Given the description of an element on the screen output the (x, y) to click on. 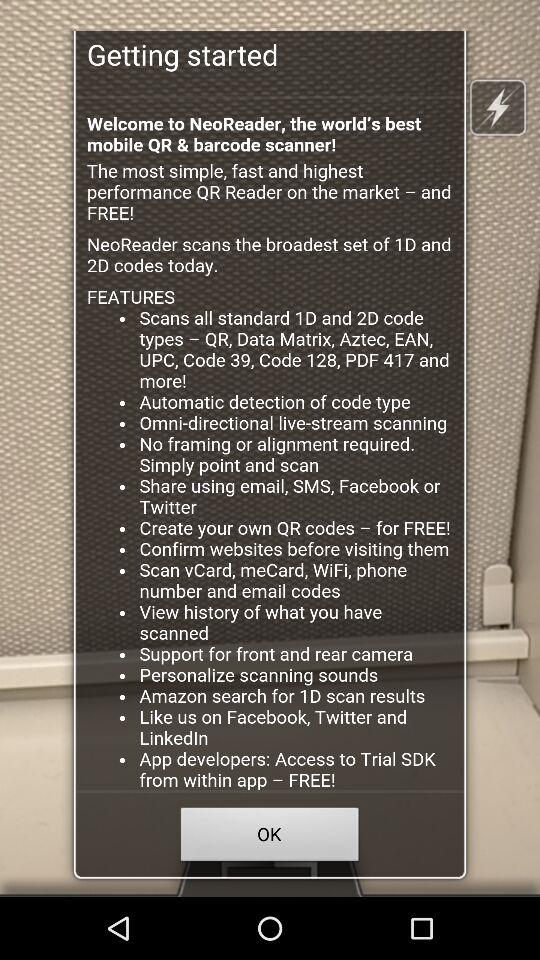
click discription (269, 444)
